Given the description of an element on the screen output the (x, y) to click on. 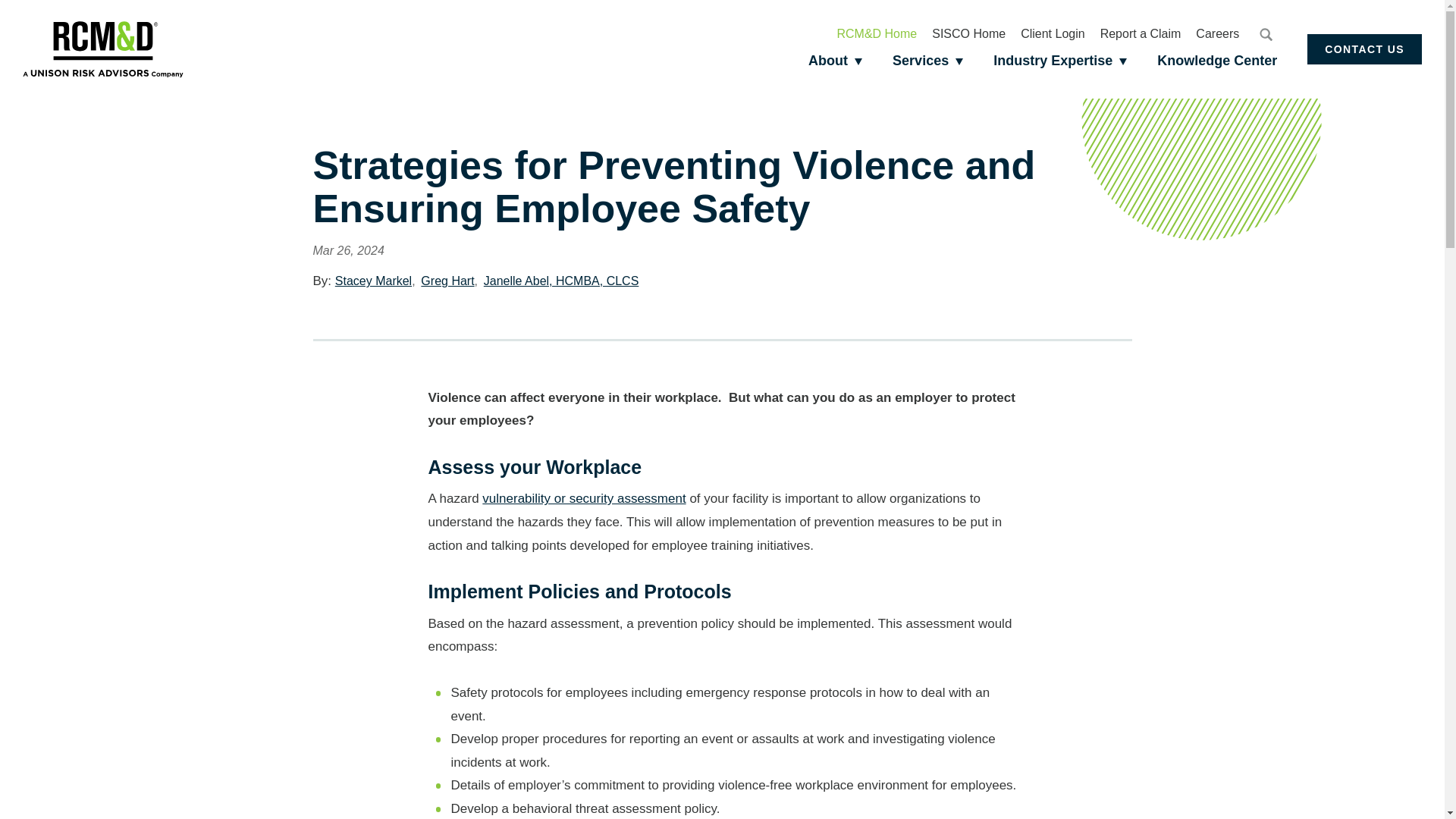
Industry Expertise (1059, 60)
Knowledge Center (1216, 60)
Careers (1217, 33)
Client Login (1052, 33)
Services (927, 60)
SISCO Home (968, 33)
homepage (103, 48)
About (835, 60)
Report a Claim (1140, 33)
